Given the description of an element on the screen output the (x, y) to click on. 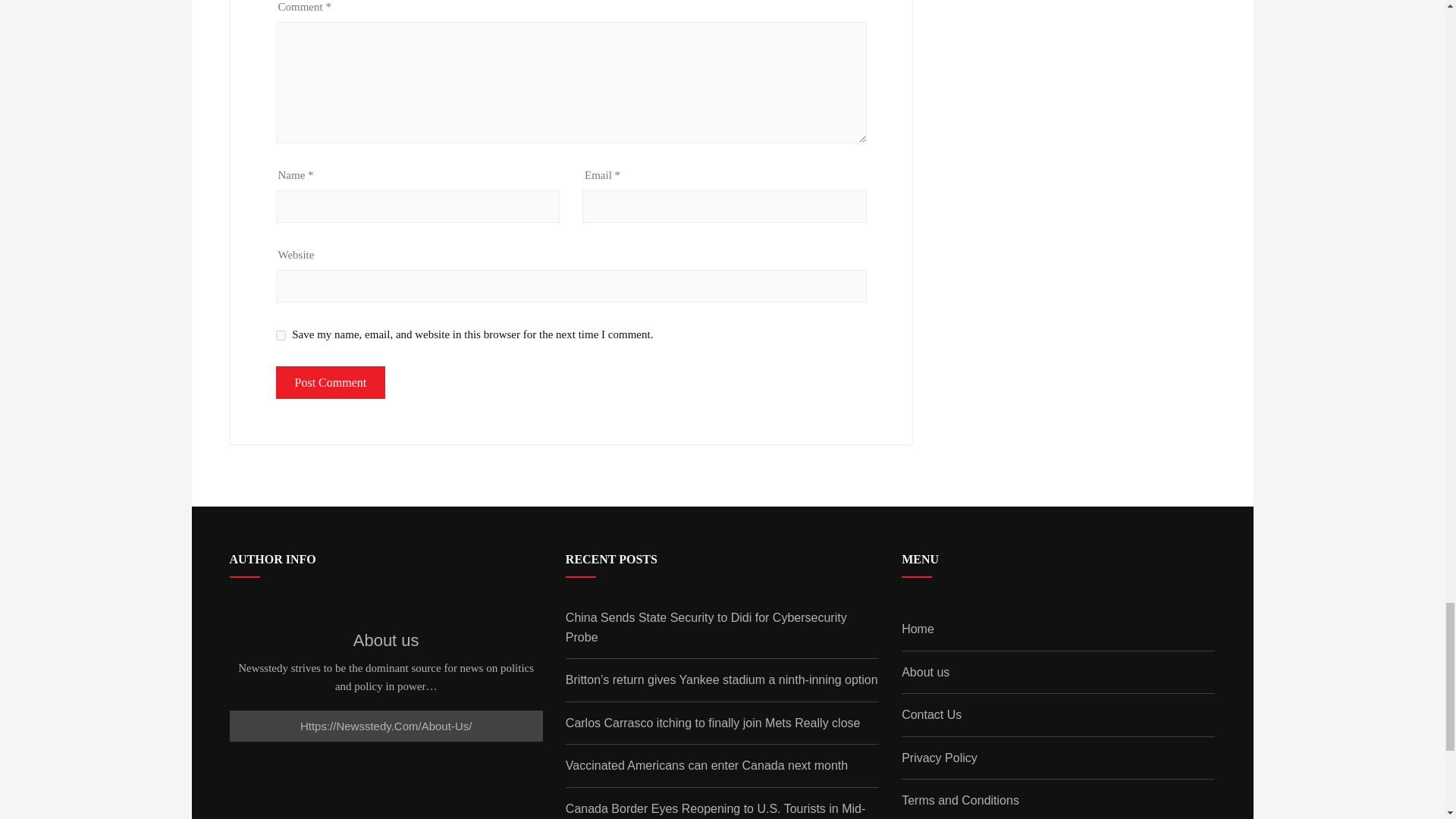
Post Comment (330, 382)
yes (280, 335)
